Given the description of an element on the screen output the (x, y) to click on. 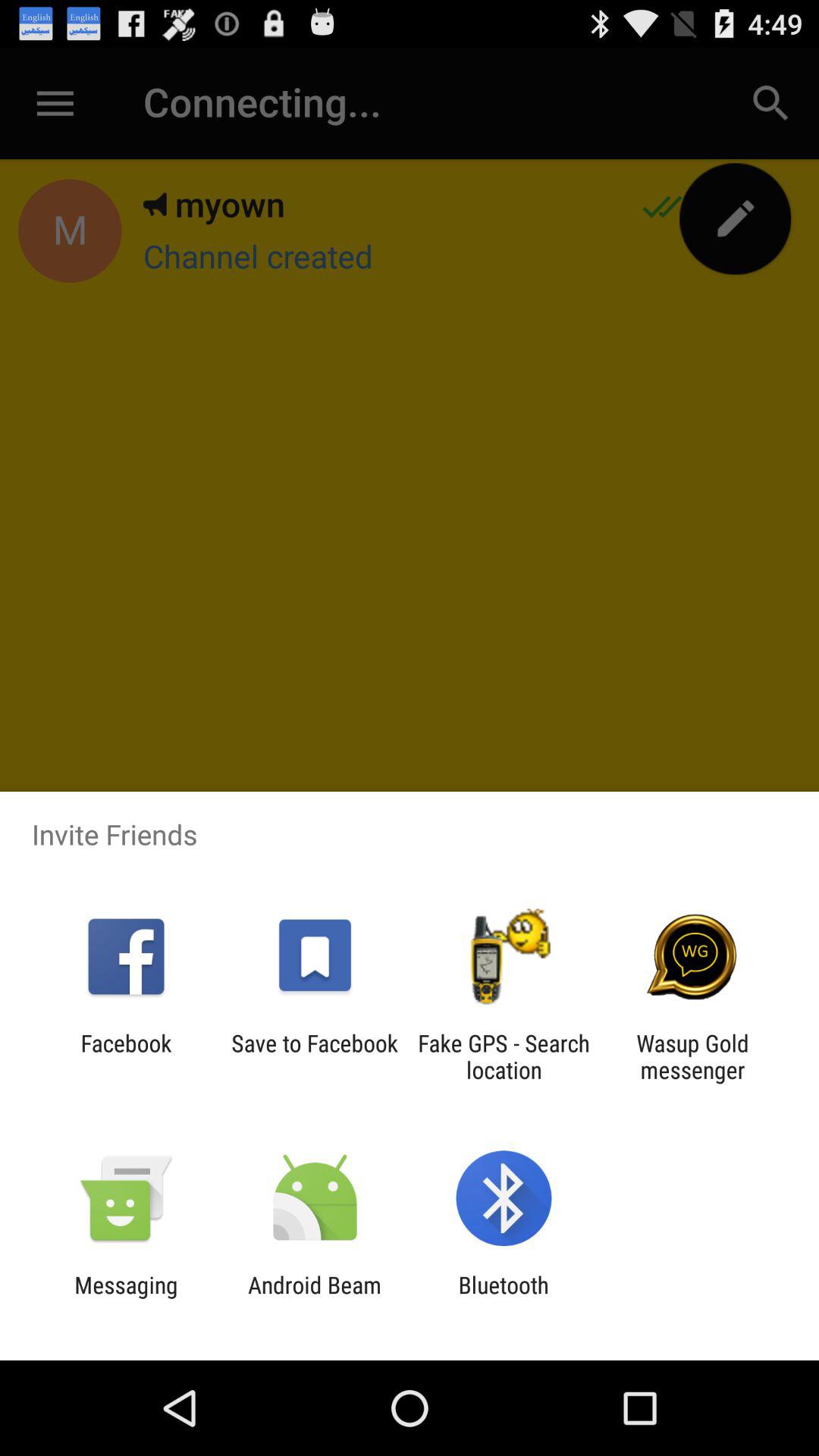
open item to the right of fake gps search icon (692, 1056)
